Given the description of an element on the screen output the (x, y) to click on. 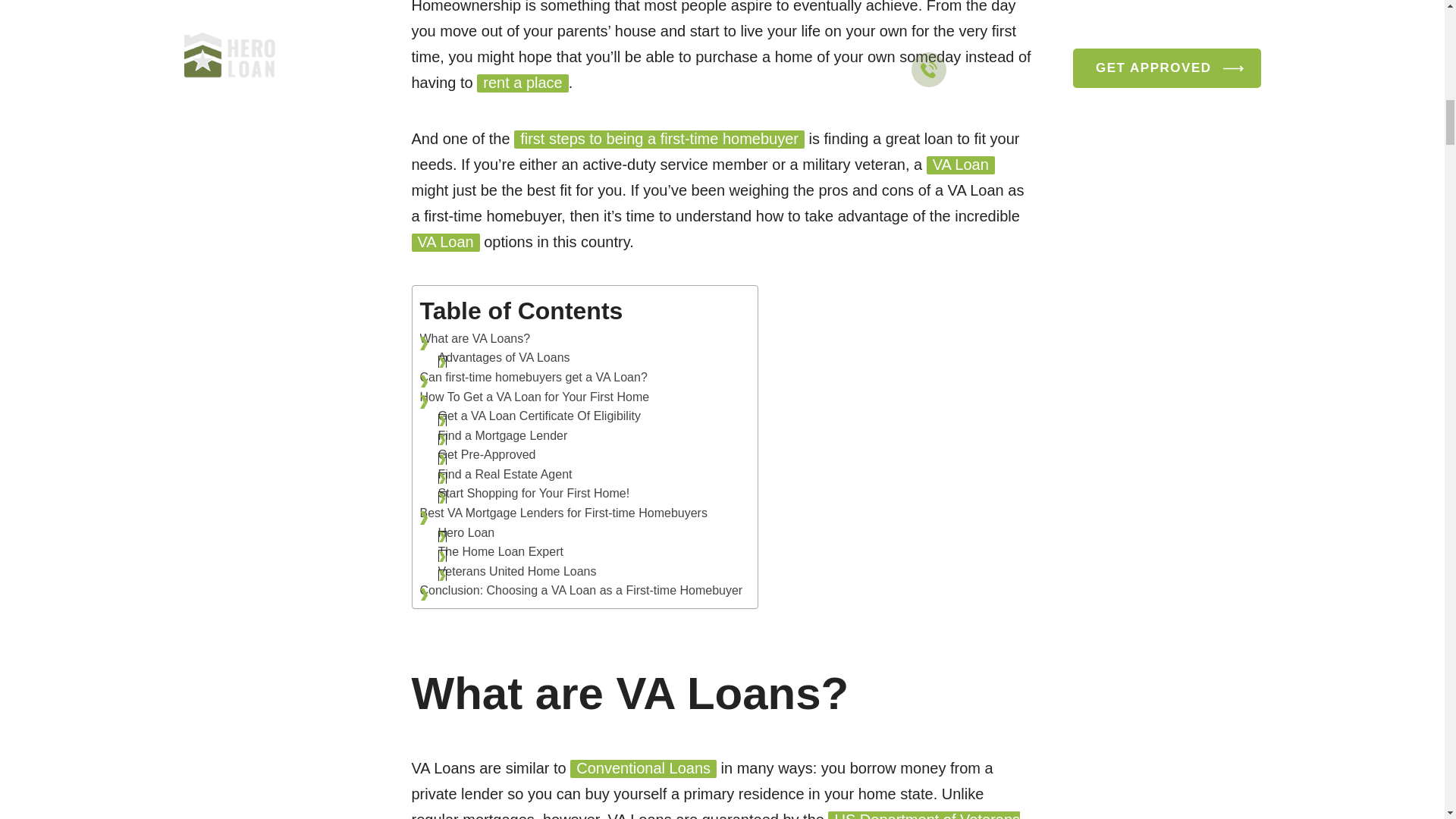
Get a VA Loan Certificate Of Eligibility  (541, 415)
Hero Loan (466, 532)
VA Loan (444, 242)
VA Loan (960, 165)
What are VA Loans?  (477, 338)
Get Pre-Approved (486, 455)
rent a place (523, 83)
Advantages of VA Loans  (505, 357)
How To Get a VA Loan for Your First Home  (536, 397)
